Given the description of an element on the screen output the (x, y) to click on. 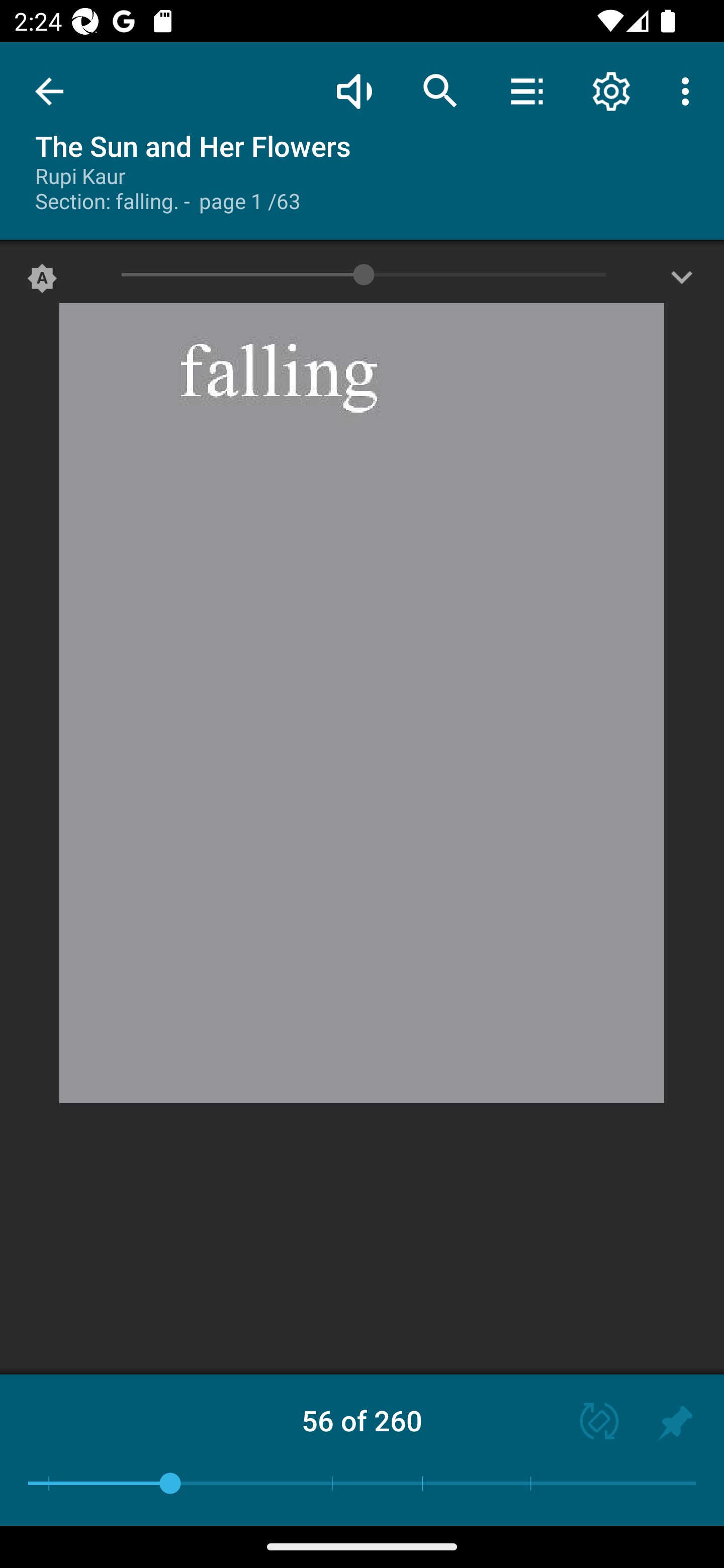
Exit reading (49, 91)
Read aloud (354, 90)
Text search (440, 90)
Contents / Bookmarks / Quotes (526, 90)
Reading settings (611, 90)
More options (688, 90)
Selected screen brightness (42, 281)
Screen brightness settings (681, 281)
56 of 260 (361, 1420)
Screen orientation (590, 1423)
Add to history (674, 1423)
